Given the description of an element on the screen output the (x, y) to click on. 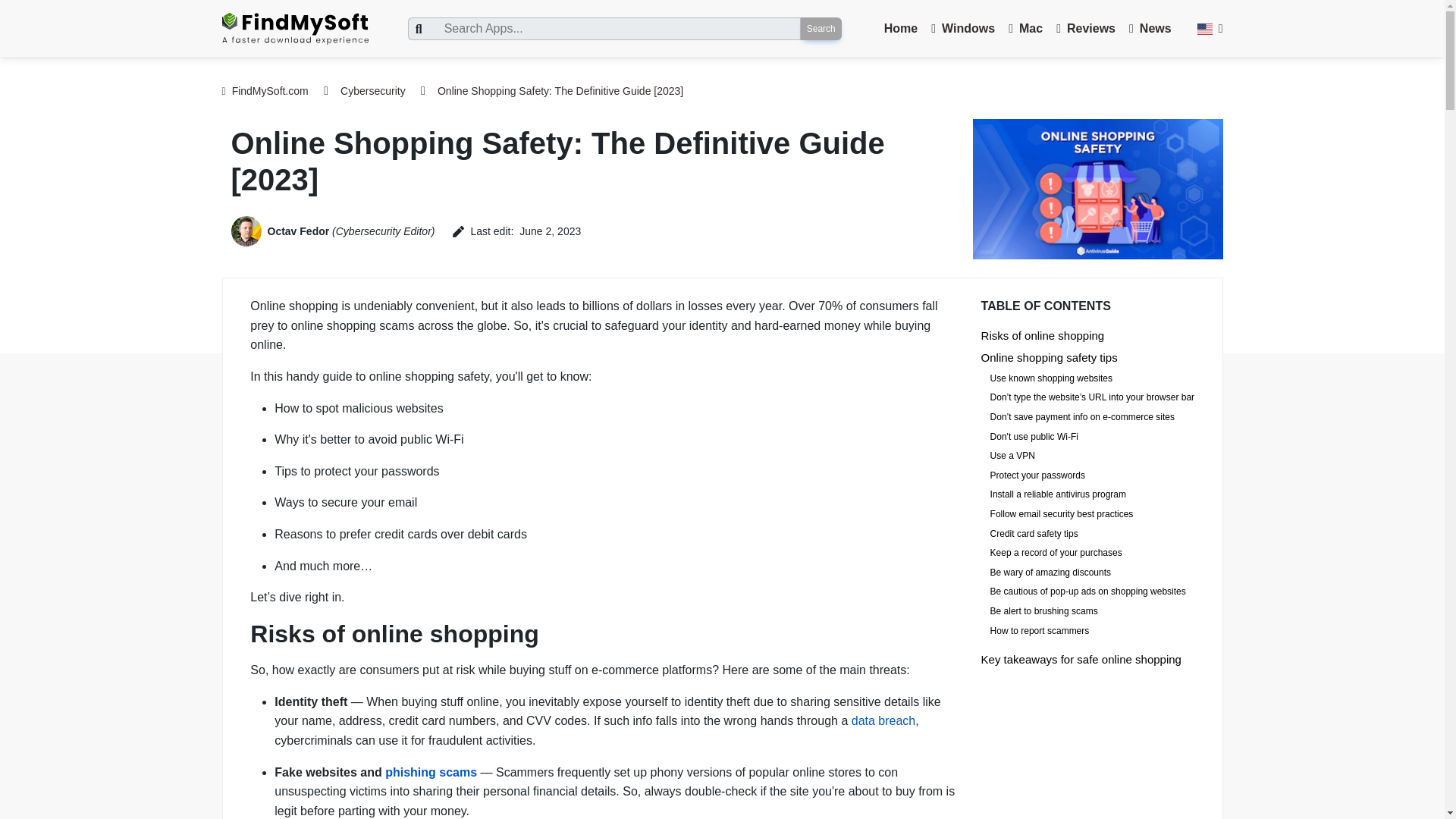
Windows (968, 29)
Home (900, 29)
News (1155, 29)
data breach (883, 720)
Mac (1030, 29)
Reviews (1091, 29)
Cybersecurity (373, 91)
phishing scams (431, 771)
Search (820, 28)
FindMySoft.com (264, 91)
